Given the description of an element on the screen output the (x, y) to click on. 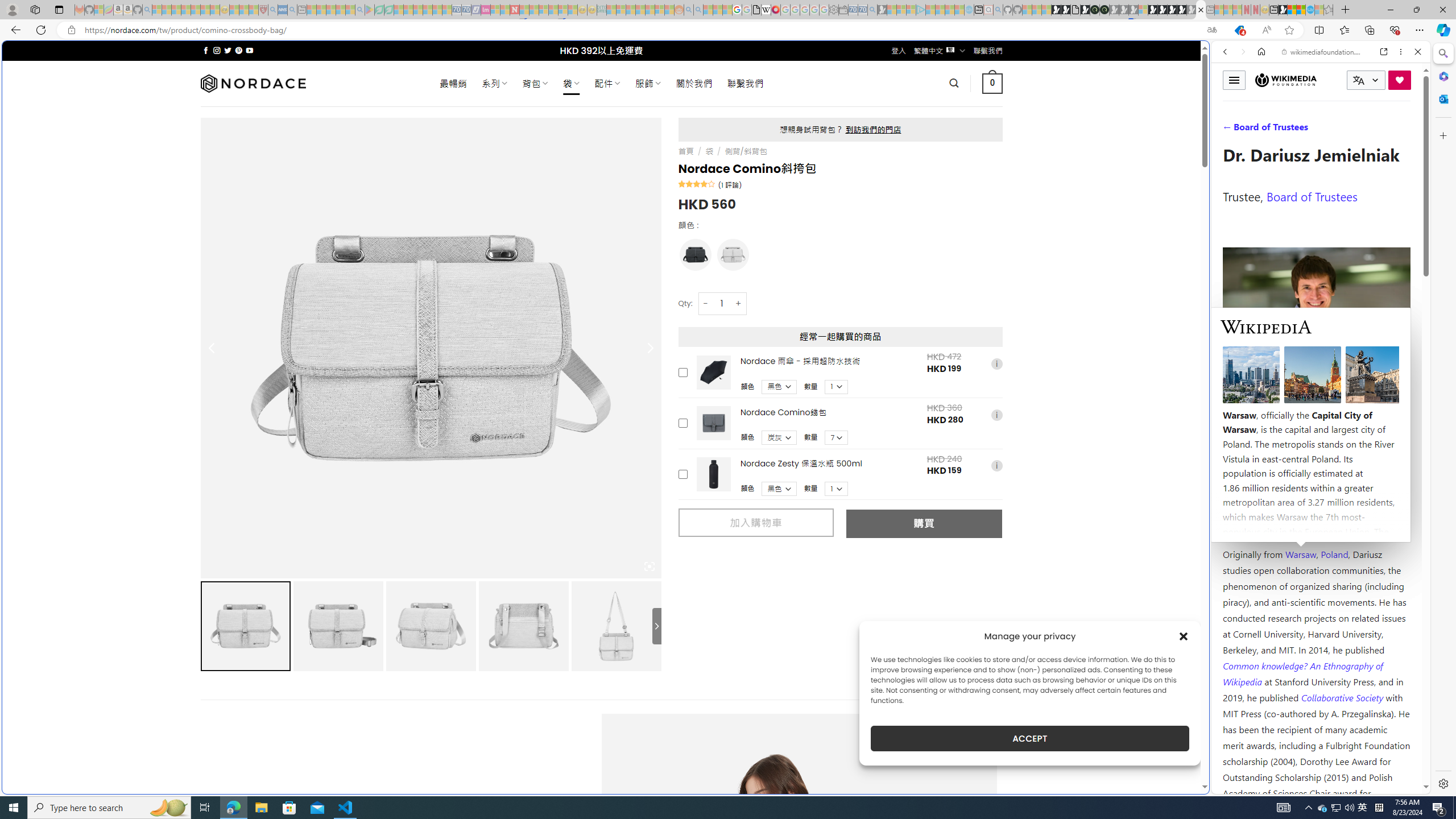
Class: iconic-woothumbs-fullscreen (649, 566)
